Given the description of an element on the screen output the (x, y) to click on. 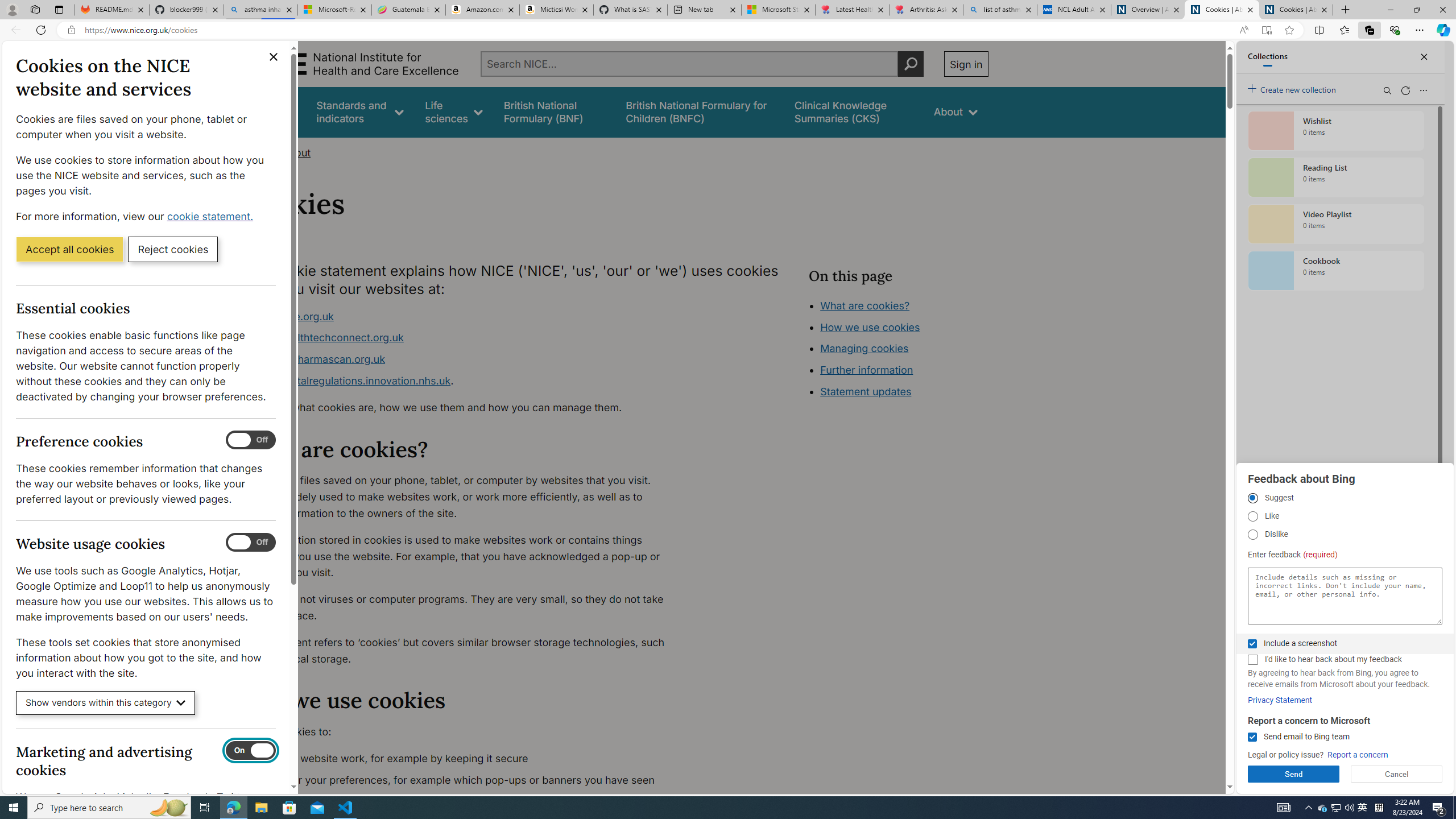
Close cookie banner (273, 56)
Suggest (1252, 498)
Report a concern (1358, 755)
make our website work, for example by keeping it secure (464, 759)
false (853, 111)
Accept all cookies (69, 248)
Cancel (1396, 773)
www.healthtechconnect.org.uk (327, 337)
